Given the description of an element on the screen output the (x, y) to click on. 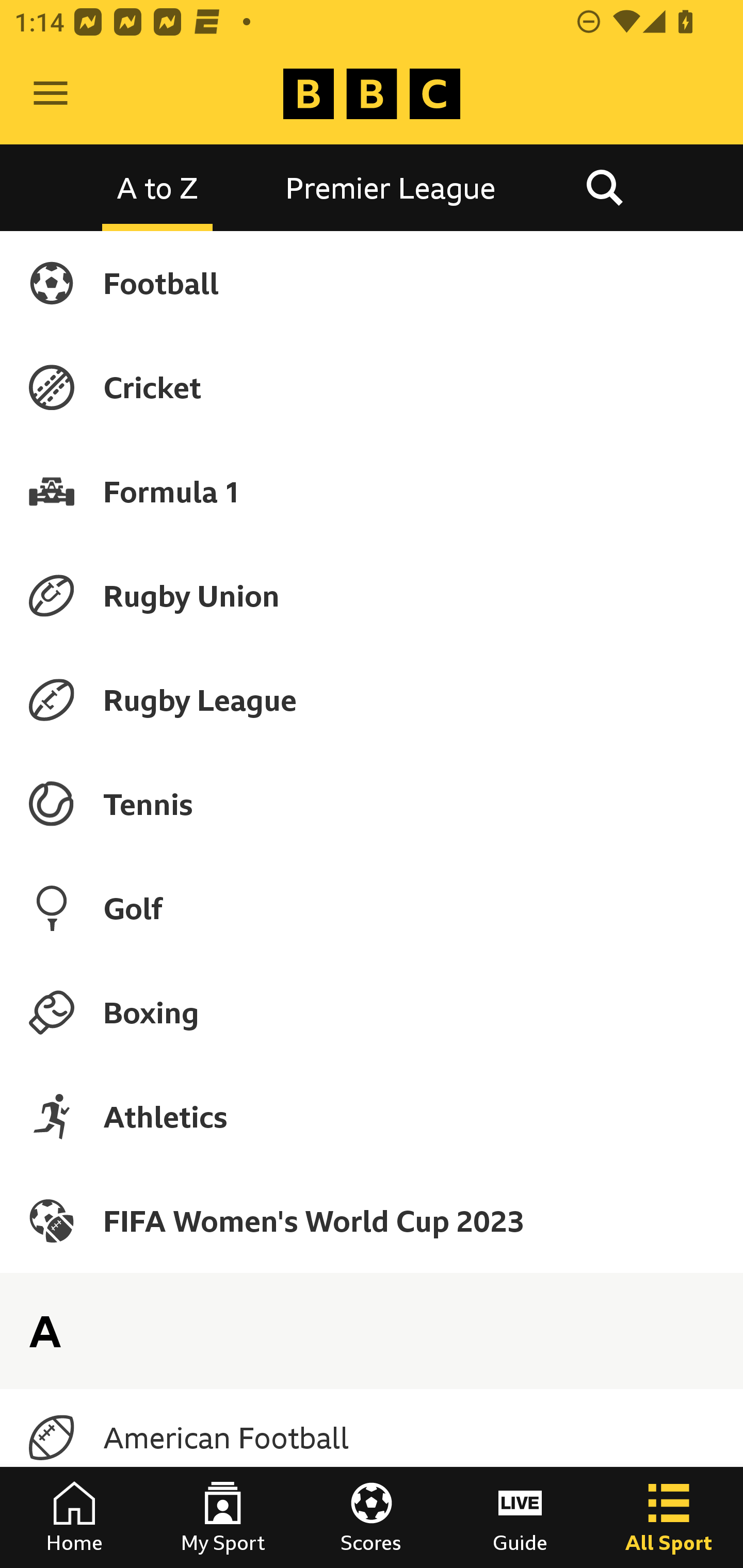
Open Menu (50, 93)
Premier League (390, 187)
Search (604, 187)
Football (371, 282)
Cricket (371, 387)
Formula 1 (371, 491)
Rugby Union (371, 595)
Rugby League (371, 699)
Tennis (371, 804)
Golf (371, 907)
Boxing (371, 1011)
Athletics (371, 1116)
FIFA Women's World Cup 2023 (371, 1220)
American Football (371, 1437)
Home (74, 1517)
My Sport (222, 1517)
Scores (371, 1517)
Guide (519, 1517)
